Given the description of an element on the screen output the (x, y) to click on. 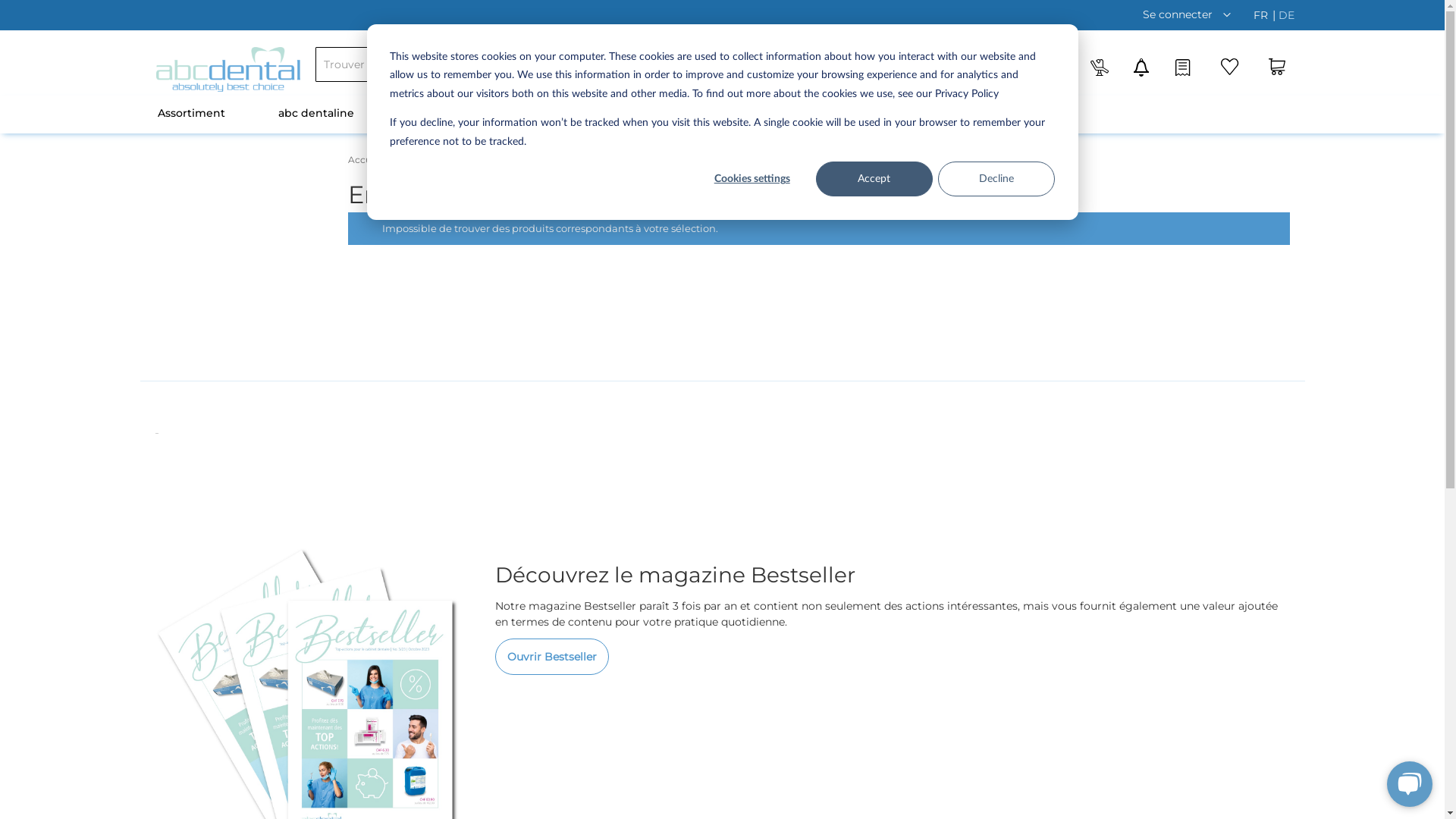
Mon cabinet Element type: text (1013, 114)
Mon panier Element type: text (1276, 74)
abc Infotheque Element type: text (881, 114)
FR Element type: text (1261, 14)
Appareils pour cabinet Element type: text (618, 114)
Services Element type: text (760, 114)
Assortiment Element type: text (190, 114)
Decline Element type: text (996, 178)
Rechercher Element type: hover (513, 64)
Cookies settings Element type: text (751, 178)
Ouvrir Bestseller Element type: text (551, 656)
Ouvrir Bestseller Element type: text (551, 655)
Accept Element type: text (873, 178)
abc dentaline Element type: text (315, 114)
Produits durables Element type: text (454, 114)
Modifier Element type: text (1225, 14)
DE Element type: text (1286, 14)
Accueil Element type: text (365, 159)
